Given the description of an element on the screen output the (x, y) to click on. 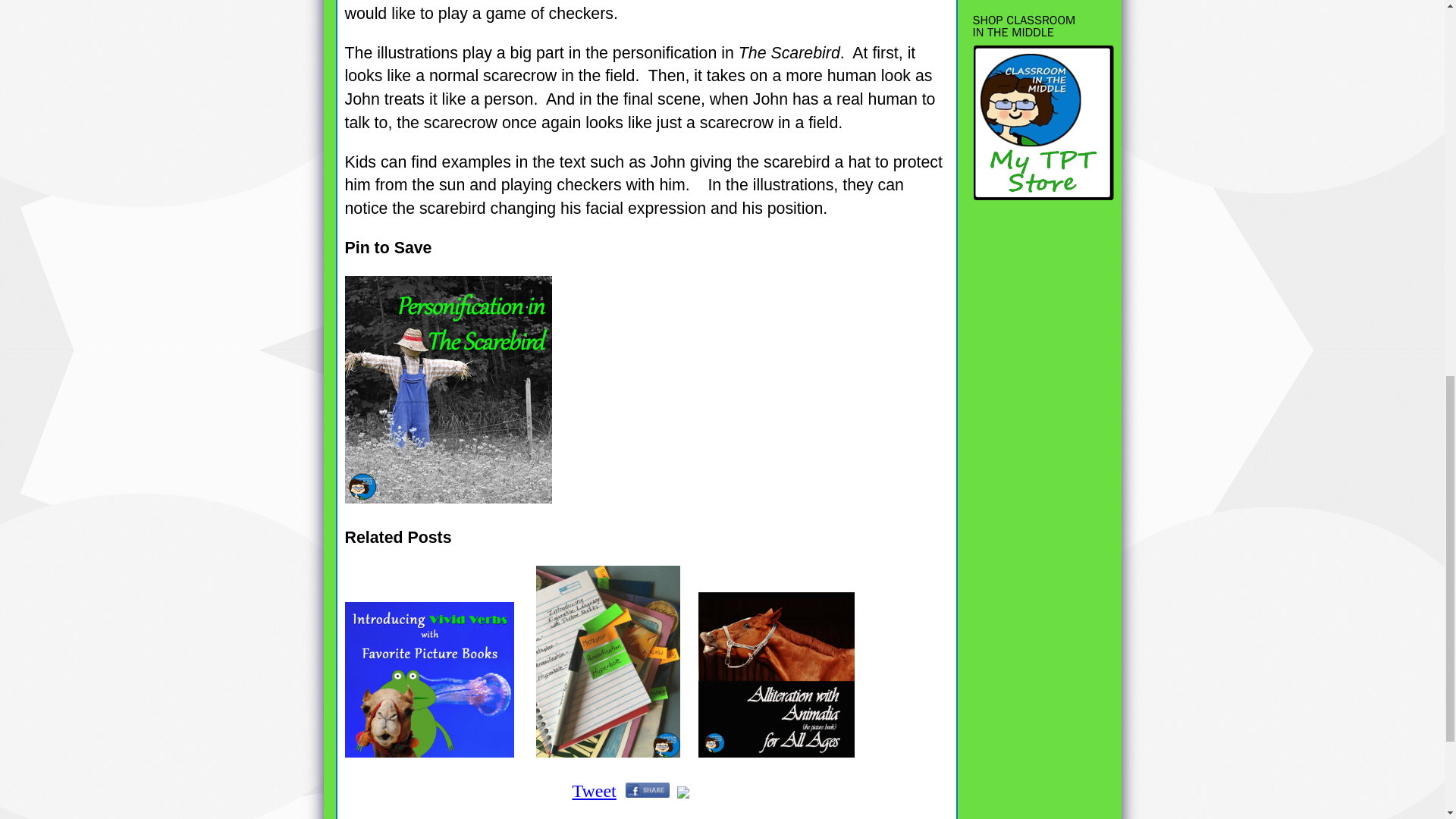
Tweet (593, 790)
